Given the description of an element on the screen output the (x, y) to click on. 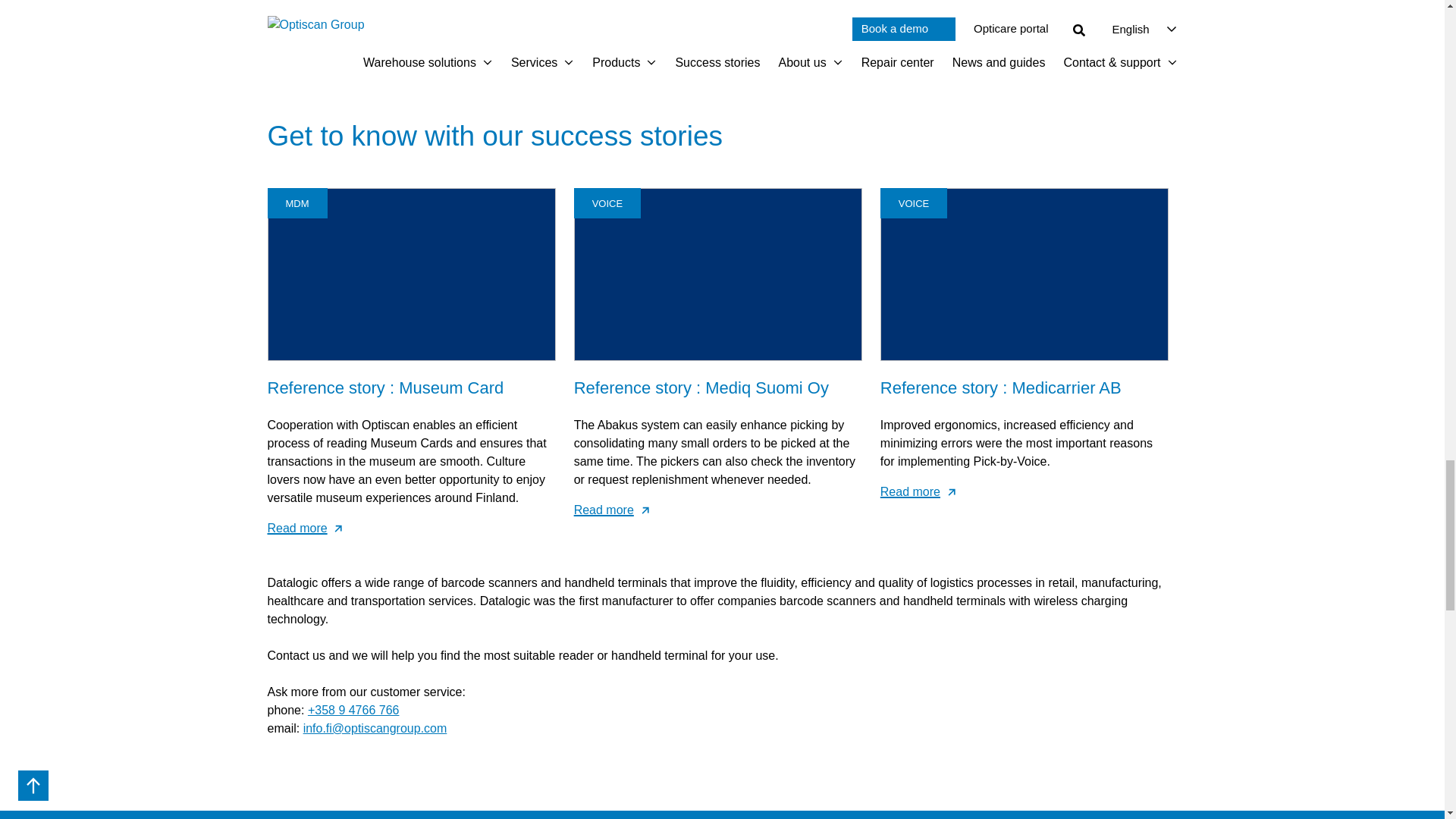
Read more (1024, 492)
Read more (410, 528)
Read more (717, 510)
All articles in the category MDM (296, 203)
All articles in the category Voice (607, 203)
All articles in the category Voice (913, 203)
